Given the description of an element on the screen output the (x, y) to click on. 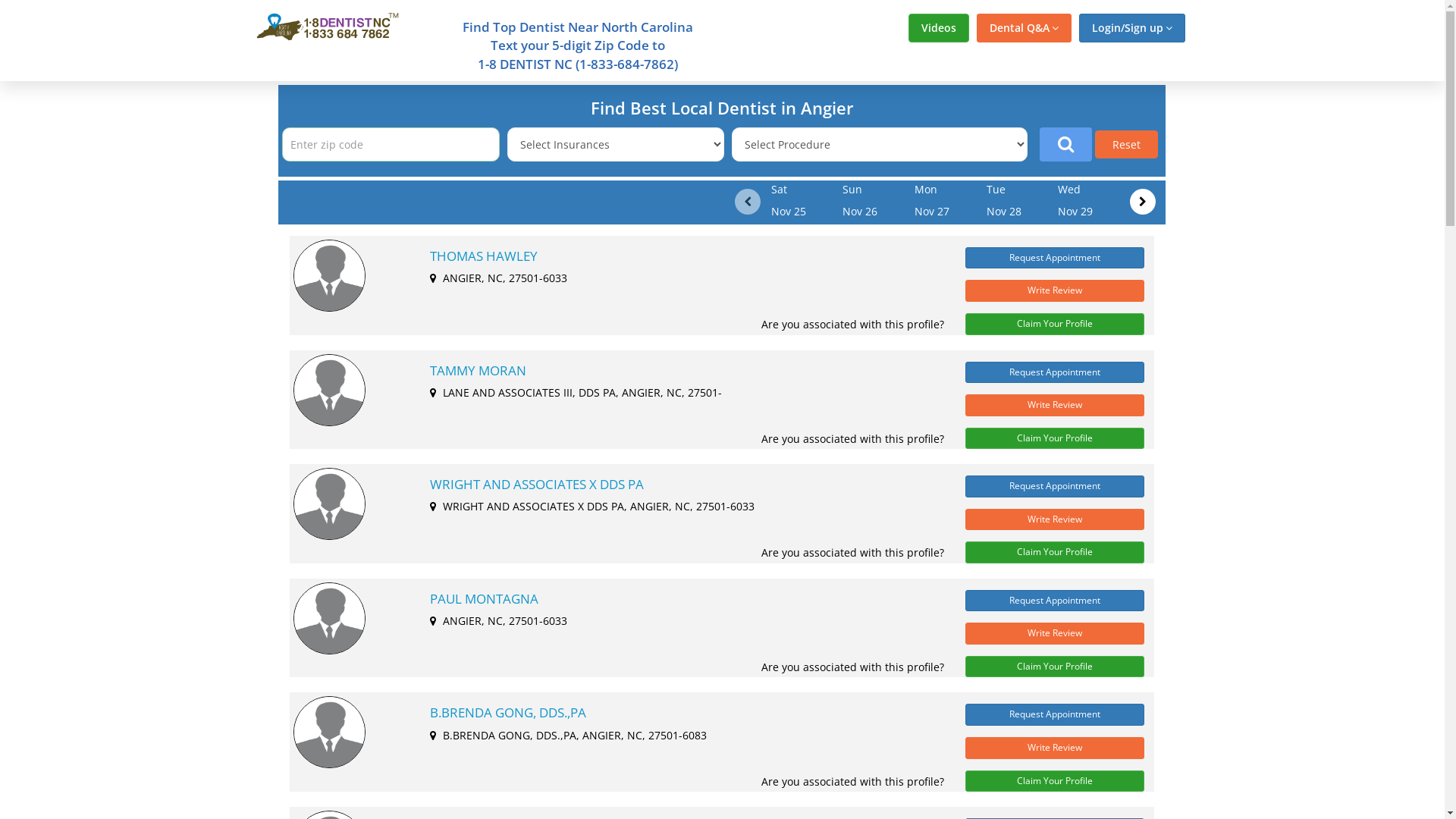
B.BRENDA GONG, DDS.,PA Element type: text (678, 712)
Request Appointment Element type: text (1054, 371)
Advertisement Element type: hover (129, 308)
TAMMY MORAN Element type: text (678, 369)
Write Review Element type: text (1054, 405)
Write Review Element type: text (1054, 748)
Claim Your Profile Element type: text (1054, 324)
Login/Sign up Element type: text (1131, 27)
Claim Your Profile Element type: text (1054, 781)
Claim Your Profile Element type: text (1054, 666)
Reset Element type: text (1126, 144)
Write Review Element type: text (1054, 633)
Claim Your Profile Element type: text (1054, 552)
Request Appointment Element type: text (1054, 258)
Write Review Element type: text (1054, 290)
Videos Element type: text (938, 27)
Write Review Element type: text (1054, 519)
Advertisement Element type: hover (1313, 308)
Request Appointment Element type: text (1054, 486)
Dental Q&A Element type: text (1023, 27)
WRIGHT AND ASSOCIATES X DDS PA Element type: text (678, 484)
PAUL MONTAGNA Element type: text (678, 598)
Request Appointment Element type: text (1054, 714)
Request Appointment Element type: text (1054, 600)
Claim Your Profile Element type: text (1054, 438)
THOMAS HAWLEY Element type: text (678, 256)
